Given the description of an element on the screen output the (x, y) to click on. 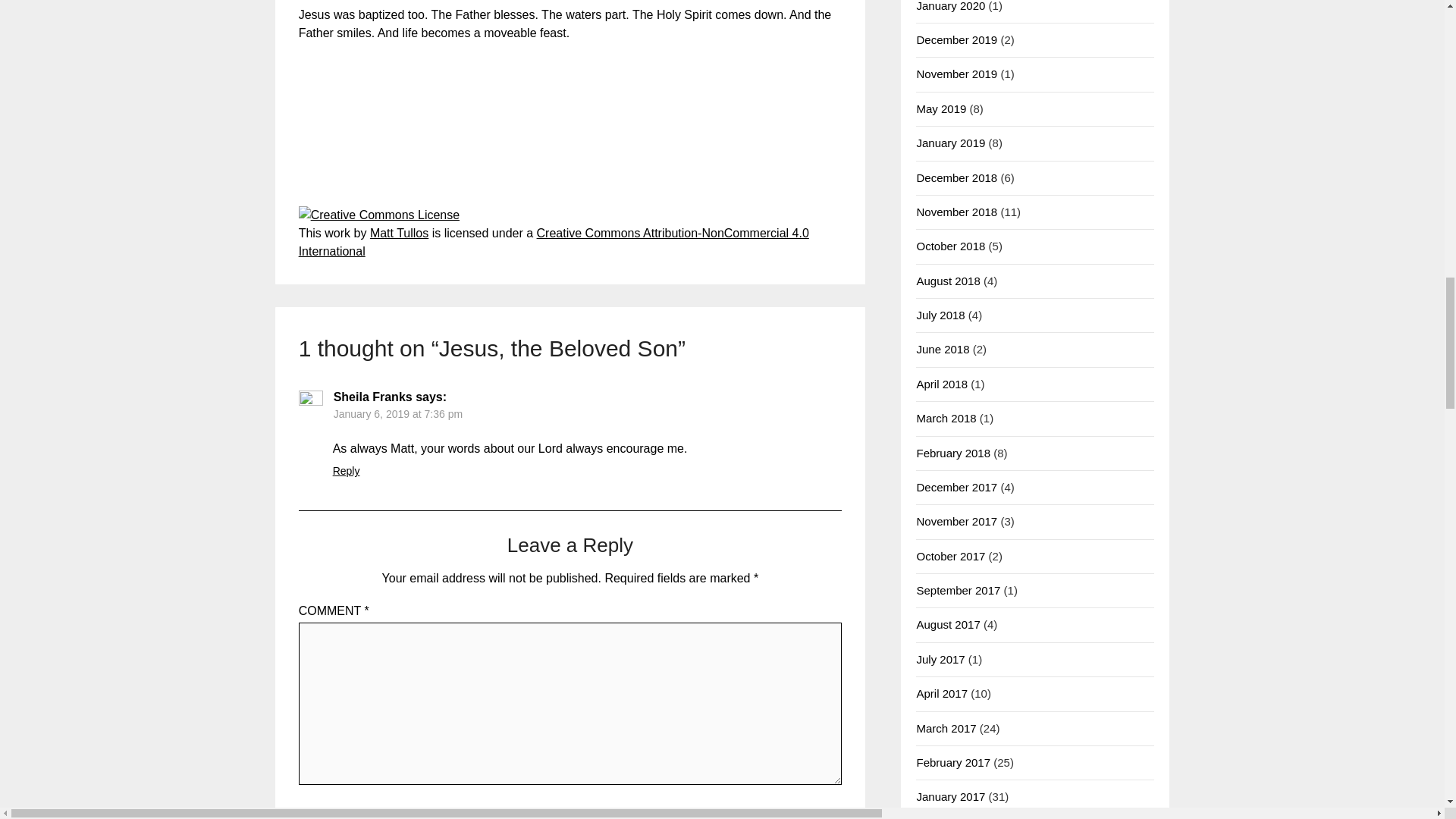
Matt Tullos (398, 232)
January 6, 2019 at 7:36 pm (398, 413)
Creative Commons Attribution-NonCommercial 4.0 International (553, 241)
Reply (346, 470)
